Given the description of an element on the screen output the (x, y) to click on. 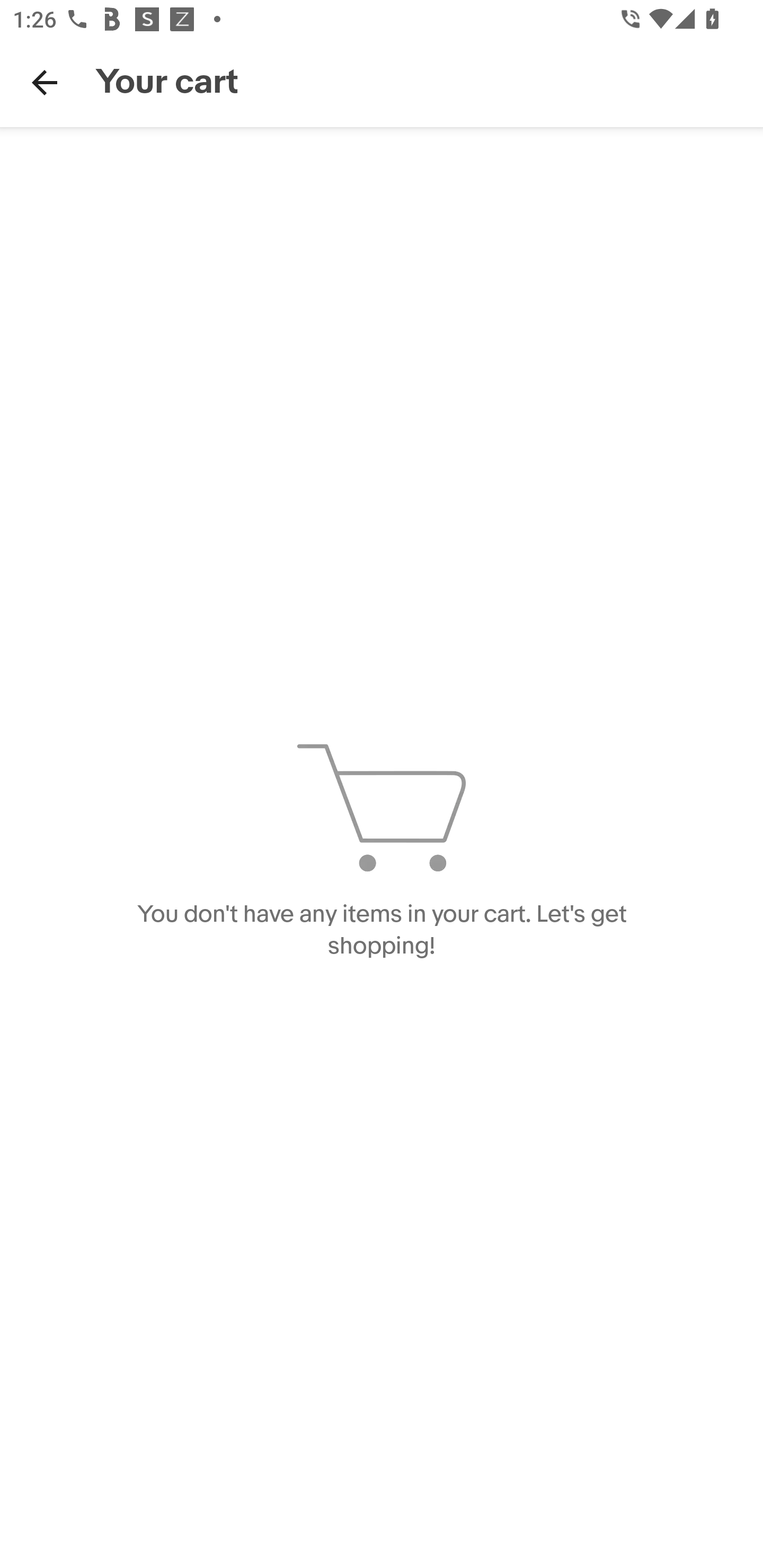
Navigate up (44, 82)
